Given the description of an element on the screen output the (x, y) to click on. 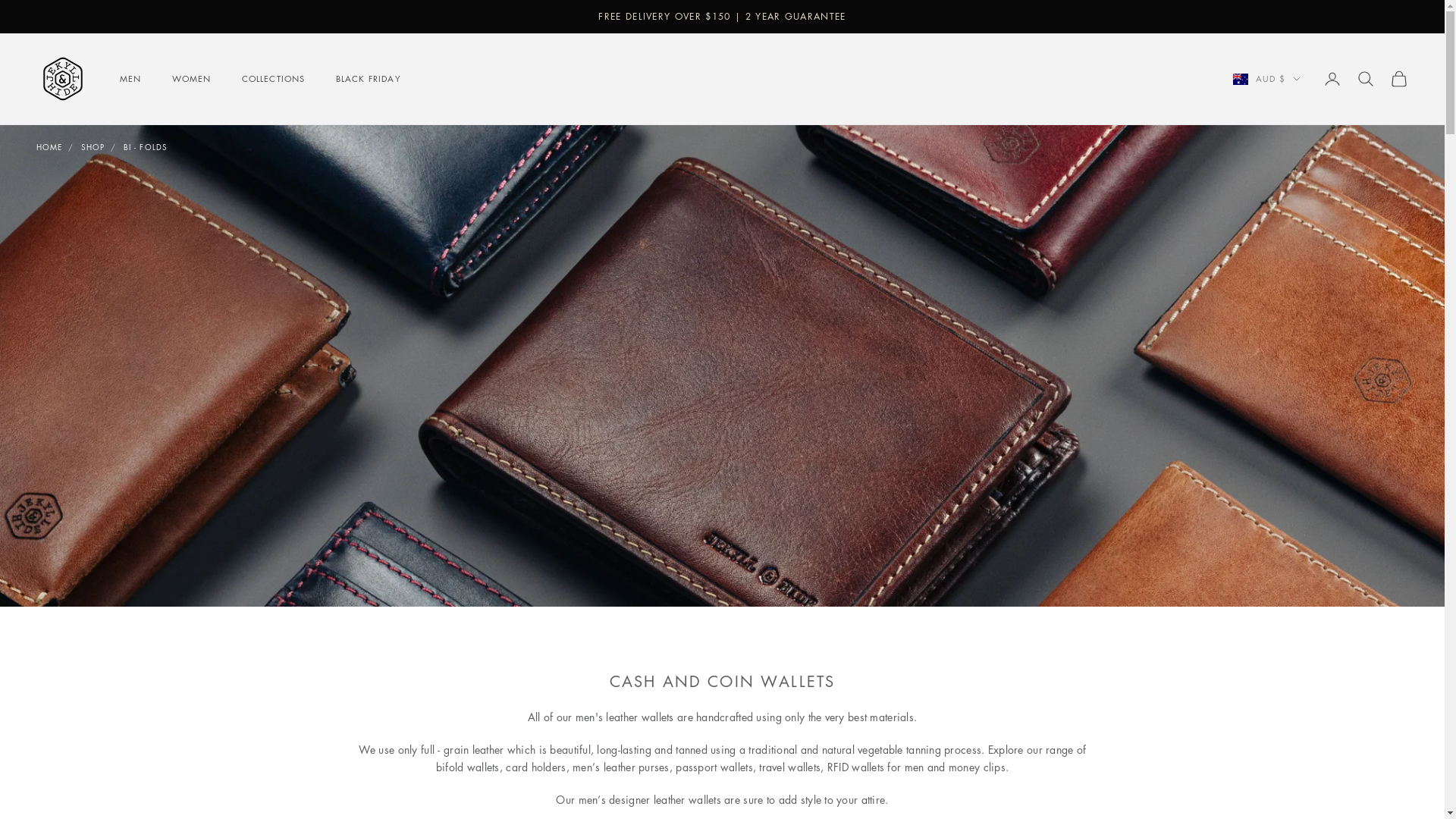
Open account page Element type: text (1332, 78)
AUD $ Element type: text (1266, 78)
Open cart Element type: text (1399, 78)
Jekyll and Hide Australia Element type: text (62, 78)
HOME Element type: text (49, 146)
SHOP Element type: text (92, 146)
BI - FOLDS Element type: text (145, 146)
Open search Element type: text (1365, 78)
